Given the description of an element on the screen output the (x, y) to click on. 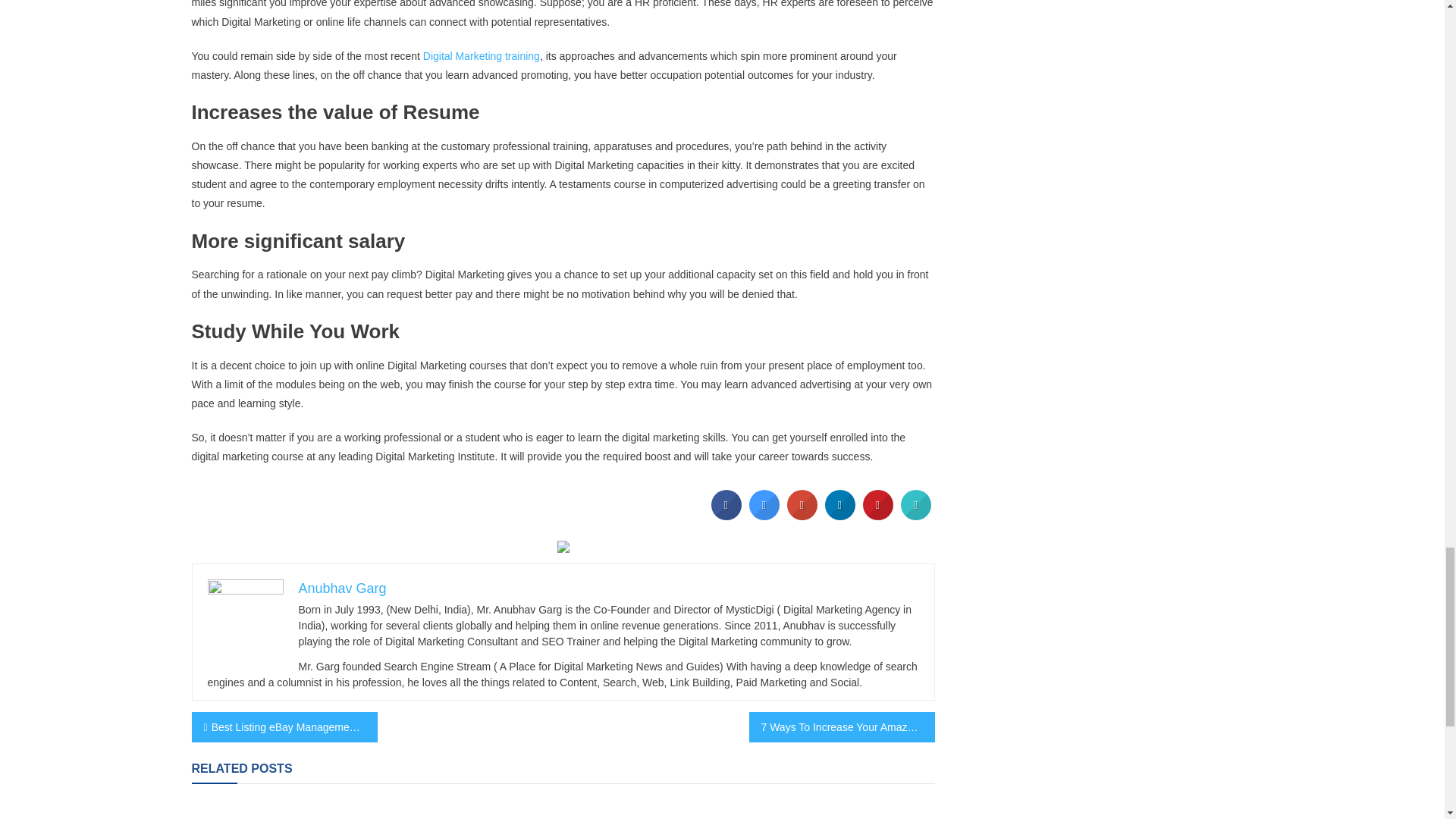
Share to LinkedIn (840, 515)
Share on Twitter (763, 515)
SEO Per Hour Cost - SEOServiceinIndia (562, 545)
Print this page (916, 515)
Share on Google Plus (801, 515)
Share on Facebook (726, 515)
Share on Pinterest (878, 515)
